Given the description of an element on the screen output the (x, y) to click on. 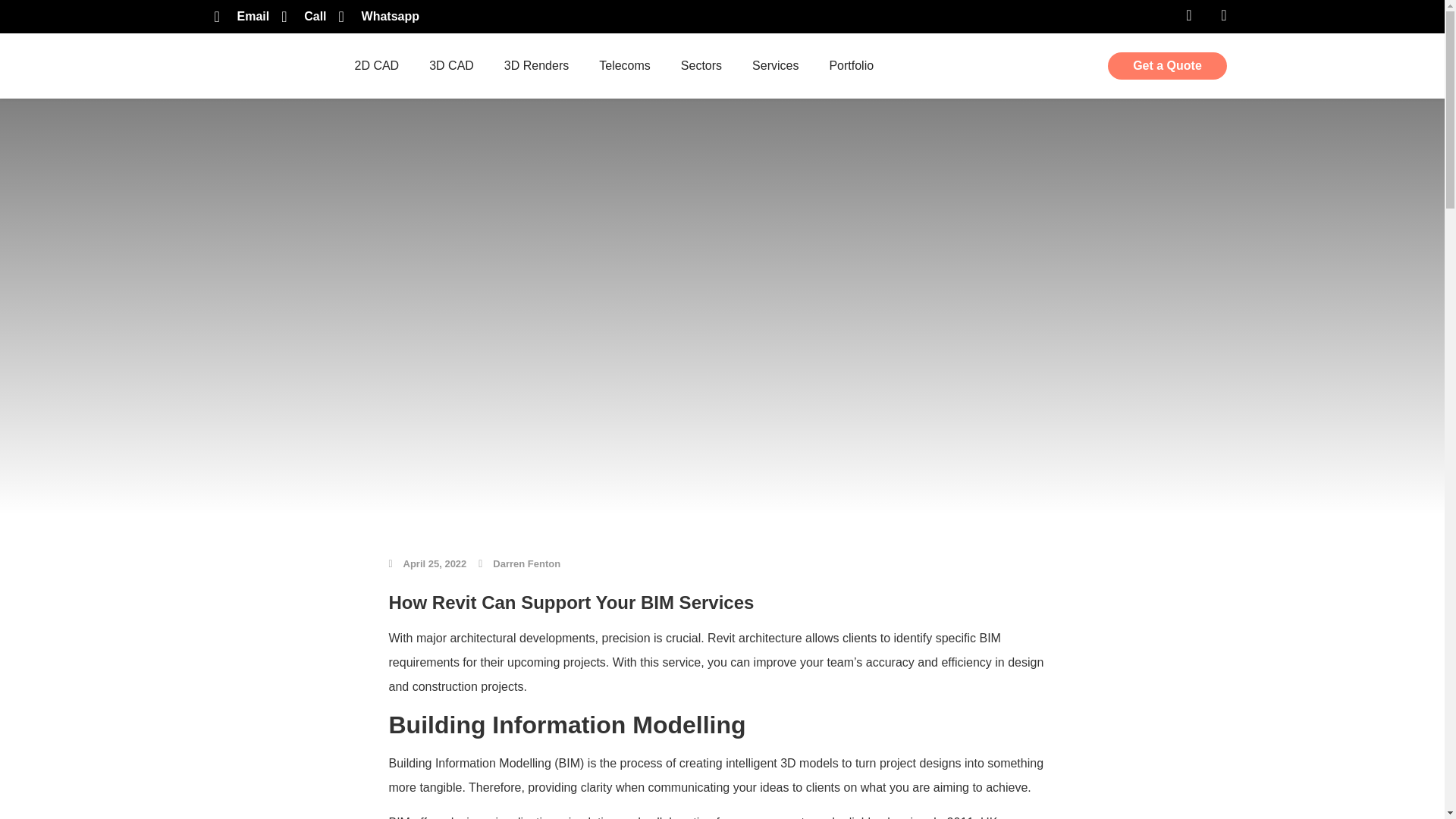
Darren Fenton (519, 563)
Portfolio (850, 65)
Sectors (700, 65)
Whatsapp (379, 16)
2D CAD (376, 65)
Call (303, 16)
April 25, 2022 (426, 563)
Telecoms (624, 65)
Get a Quote (1167, 65)
Email (241, 16)
